Given the description of an element on the screen output the (x, y) to click on. 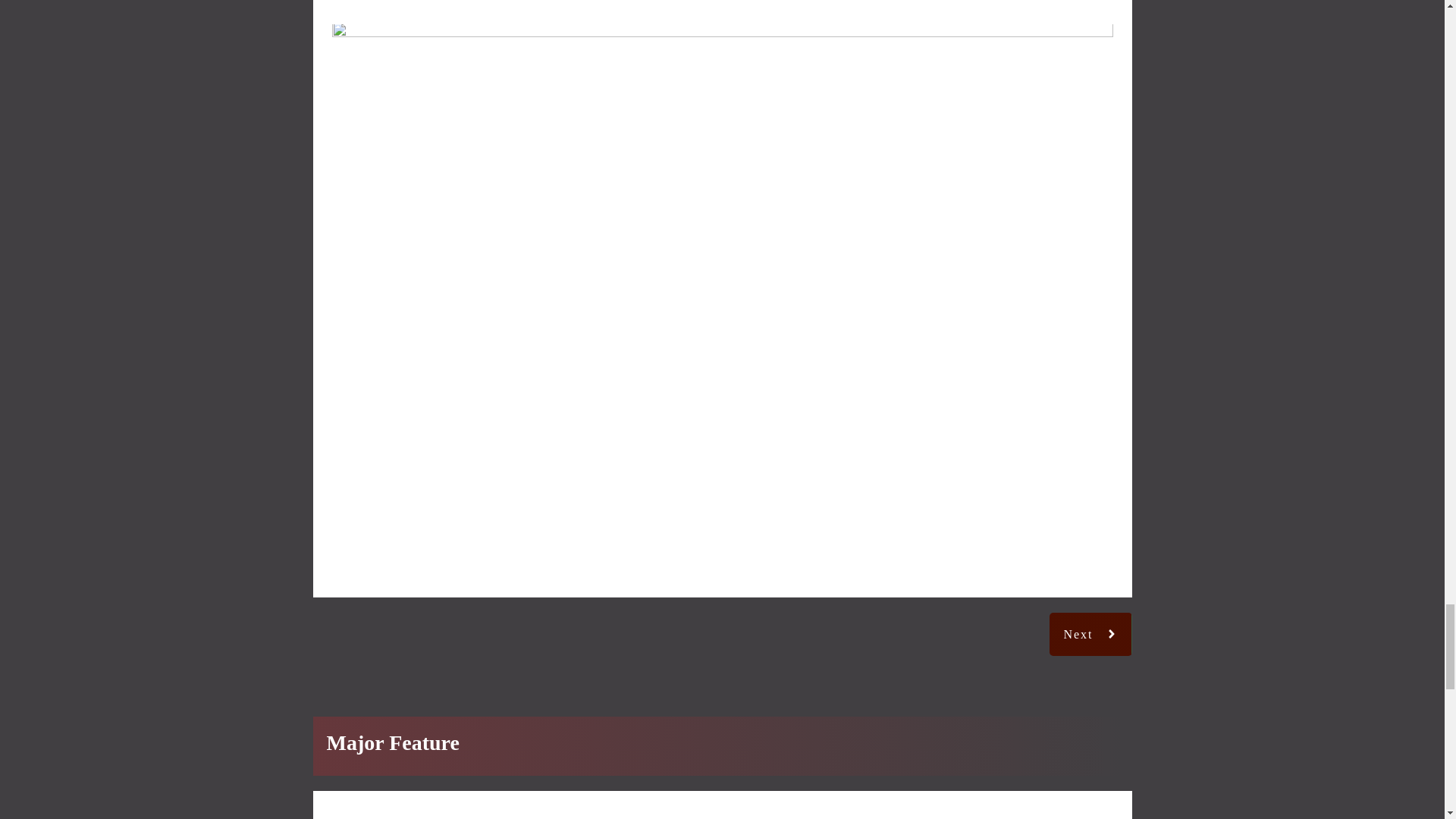
Next (1090, 634)
Next (1090, 634)
